Given the description of an element on the screen output the (x, y) to click on. 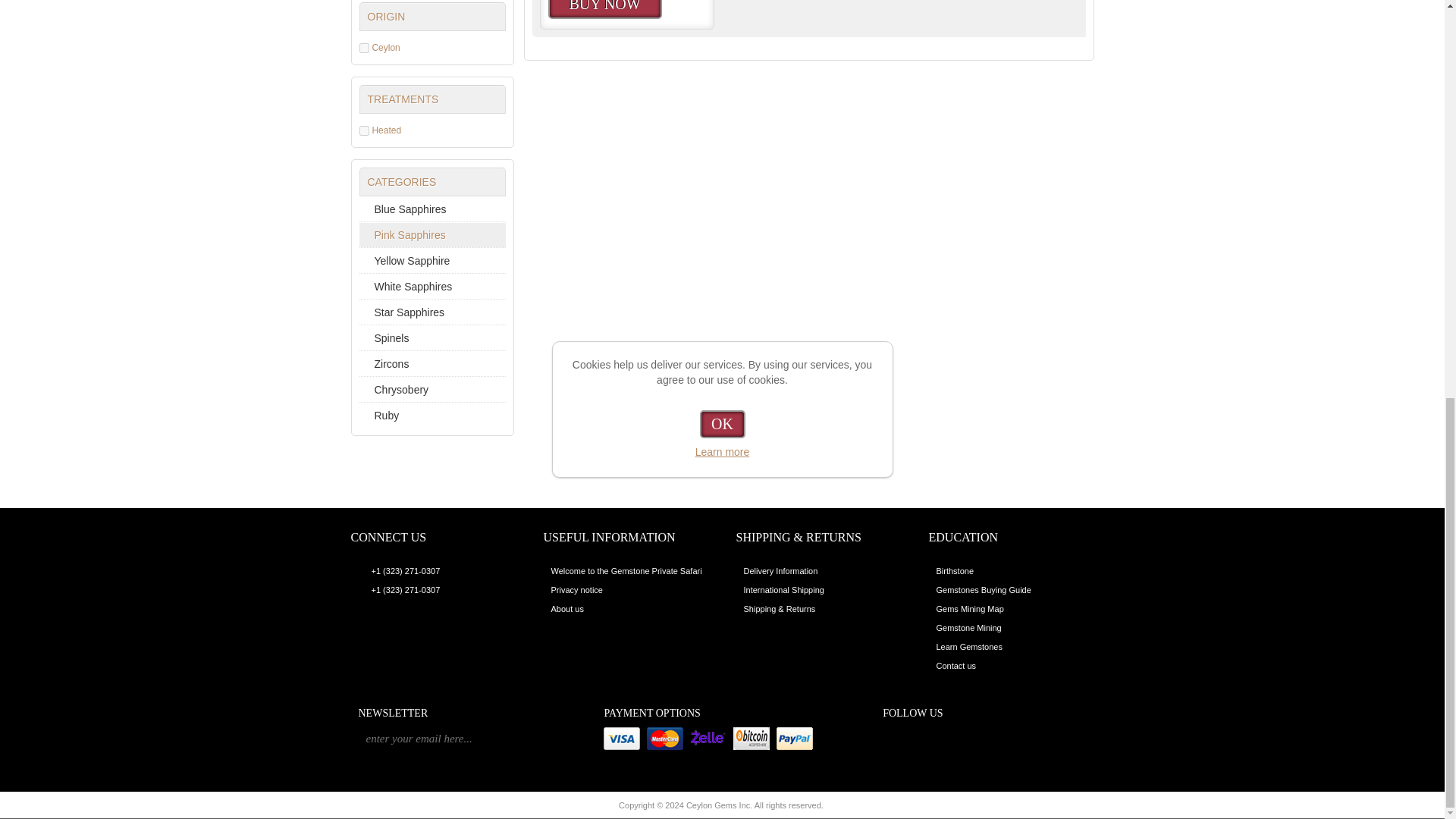
Buy Now (604, 9)
on (364, 130)
on (364, 47)
Subscribe (573, 738)
